Given the description of an element on the screen output the (x, y) to click on. 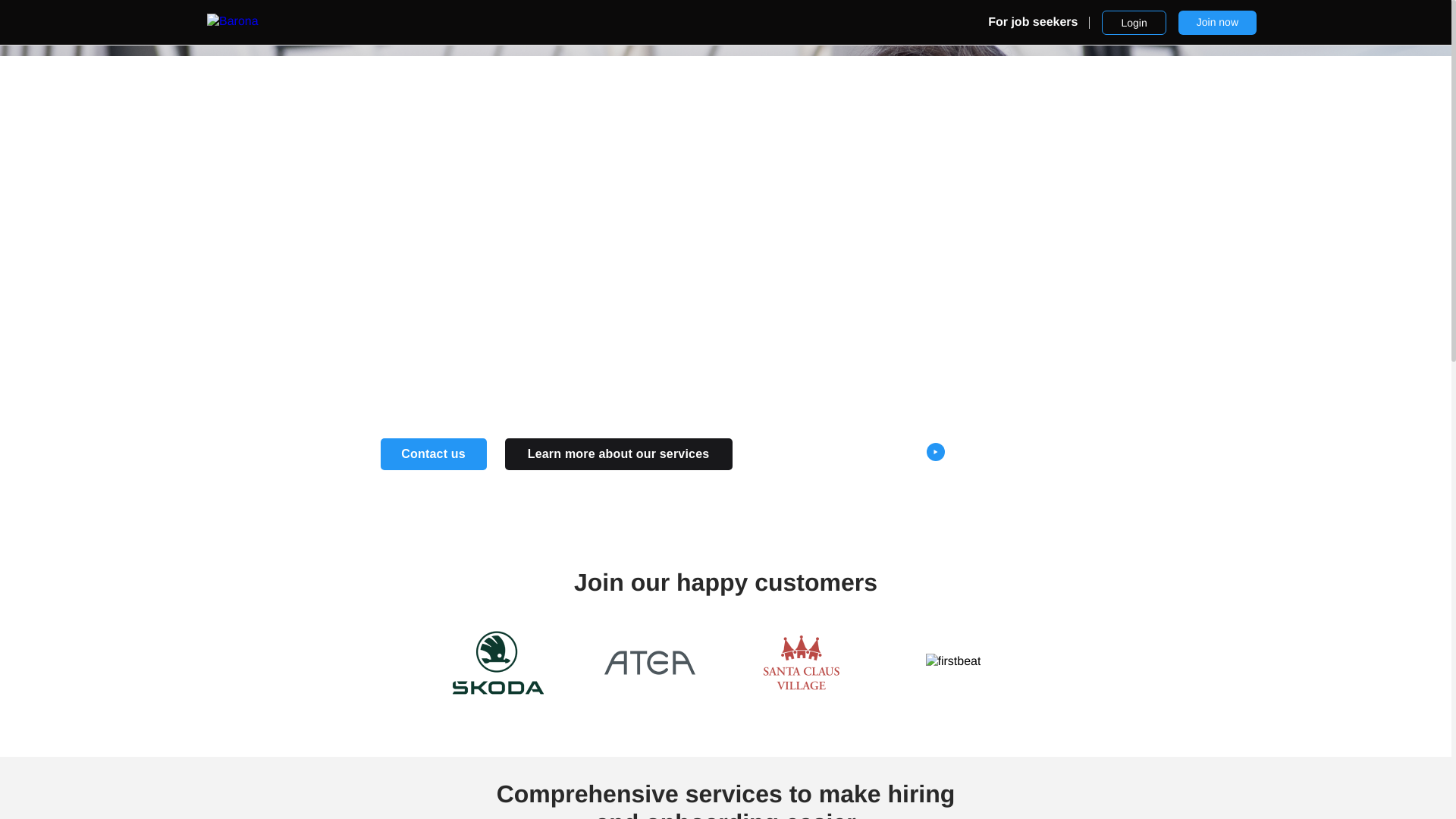
For job seekers (1038, 22)
Login (1134, 22)
Video: What is Barona (998, 452)
Join now (1216, 22)
Learn more about our services (618, 454)
Contact us (433, 454)
